Given the description of an element on the screen output the (x, y) to click on. 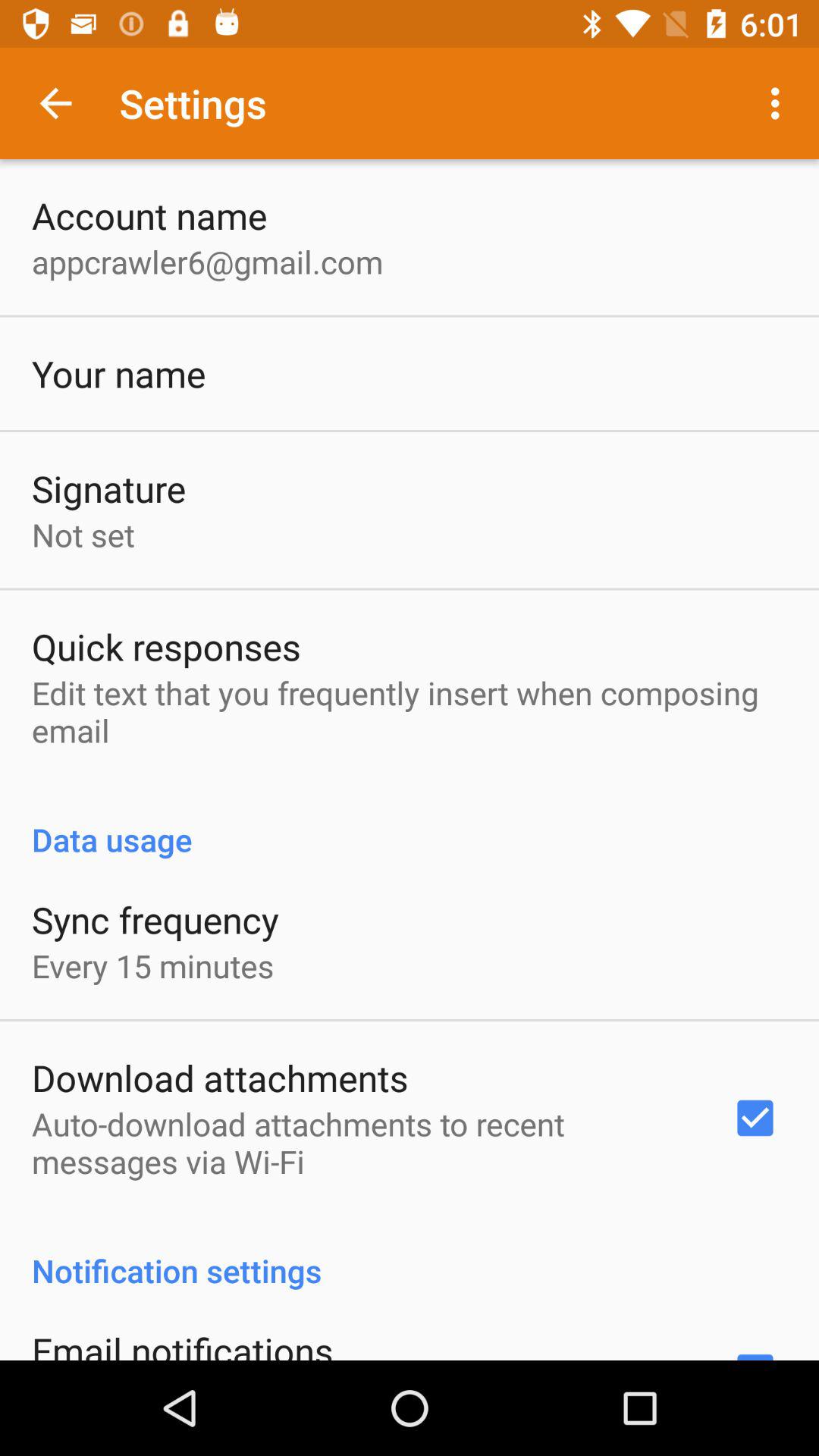
swipe until the signature item (108, 488)
